Given the description of an element on the screen output the (x, y) to click on. 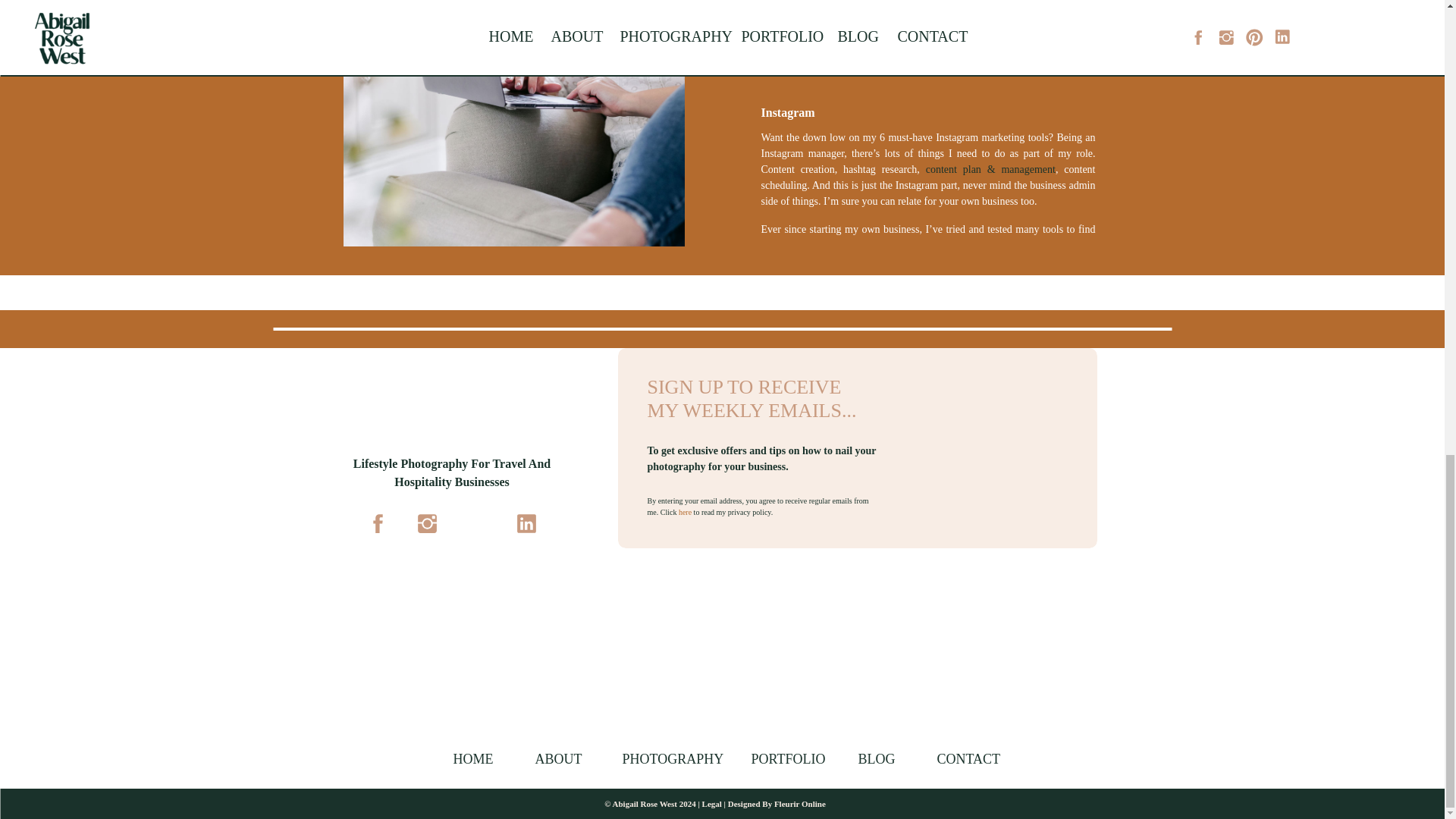
Fleurir Online (799, 803)
Legal (711, 803)
6 MUST-HAVE INSTAGRAM MARKETING TOOLS (885, 46)
Instagram (788, 112)
6 Must-Have Instagram Marketing Tools (513, 132)
